Given the description of an element on the screen output the (x, y) to click on. 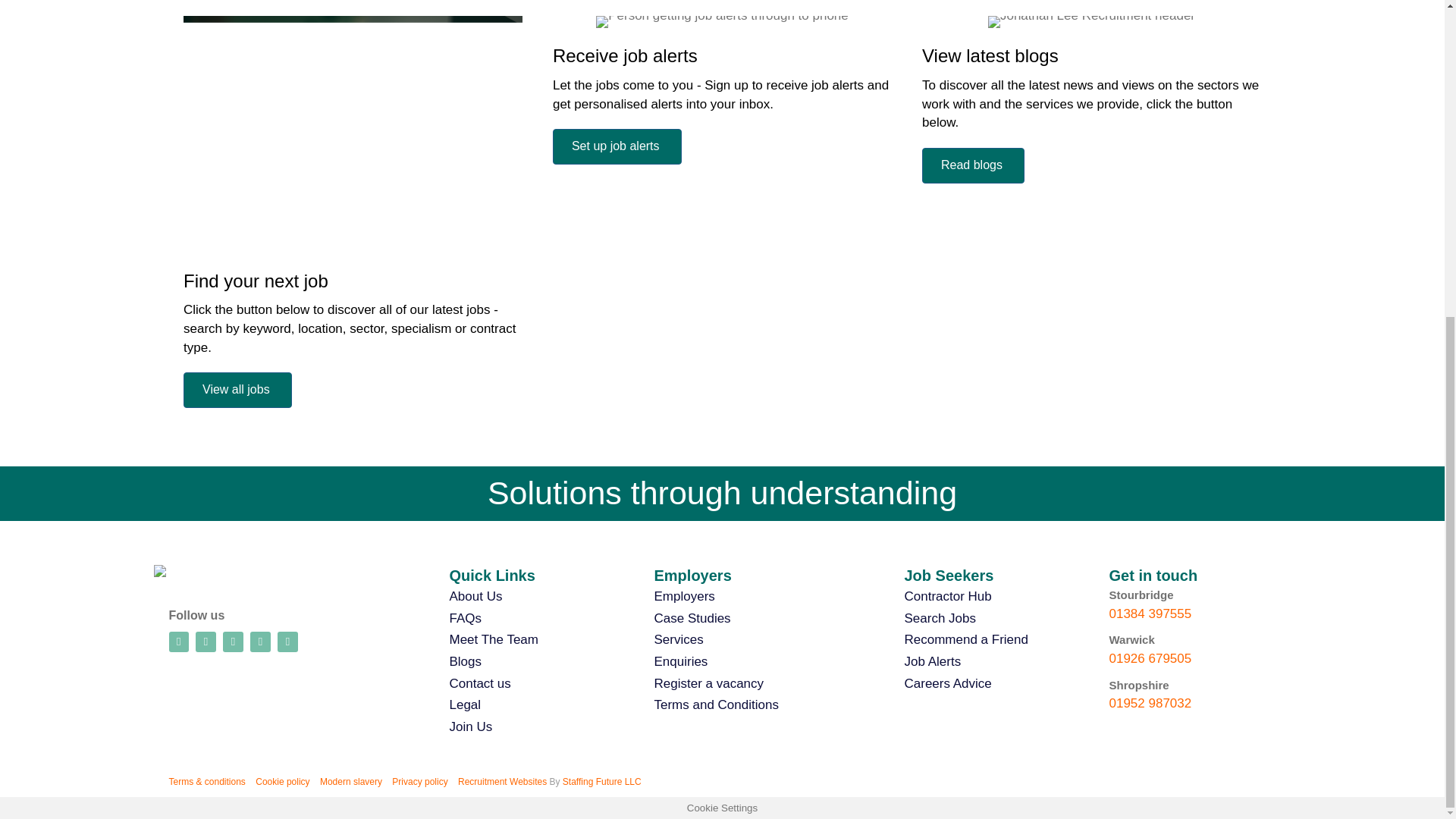
Jonathan-Lee (211, 571)
Blog background header 2 (1091, 21)
Job Search (352, 134)
